Given the description of an element on the screen output the (x, y) to click on. 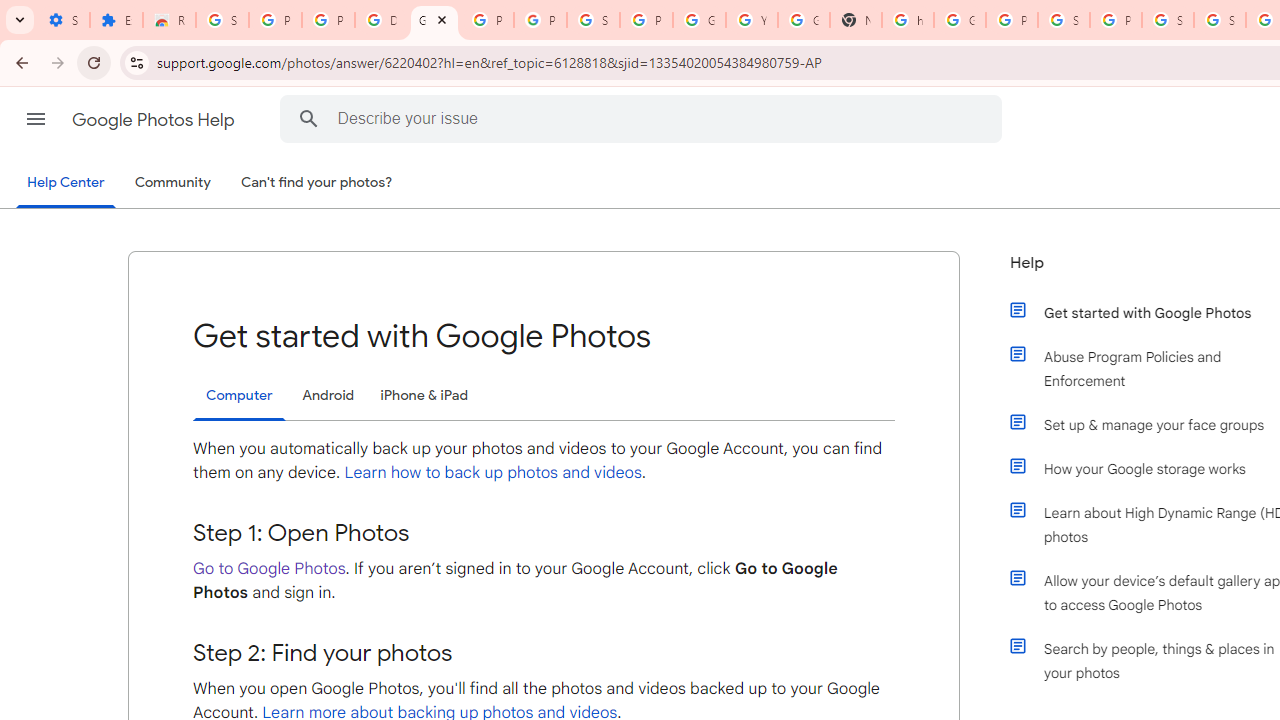
Settings - On startup (63, 20)
iPhone & iPad (424, 395)
Sign in - Google Accounts (1219, 20)
Go to Google Photos (269, 568)
